Given the description of an element on the screen output the (x, y) to click on. 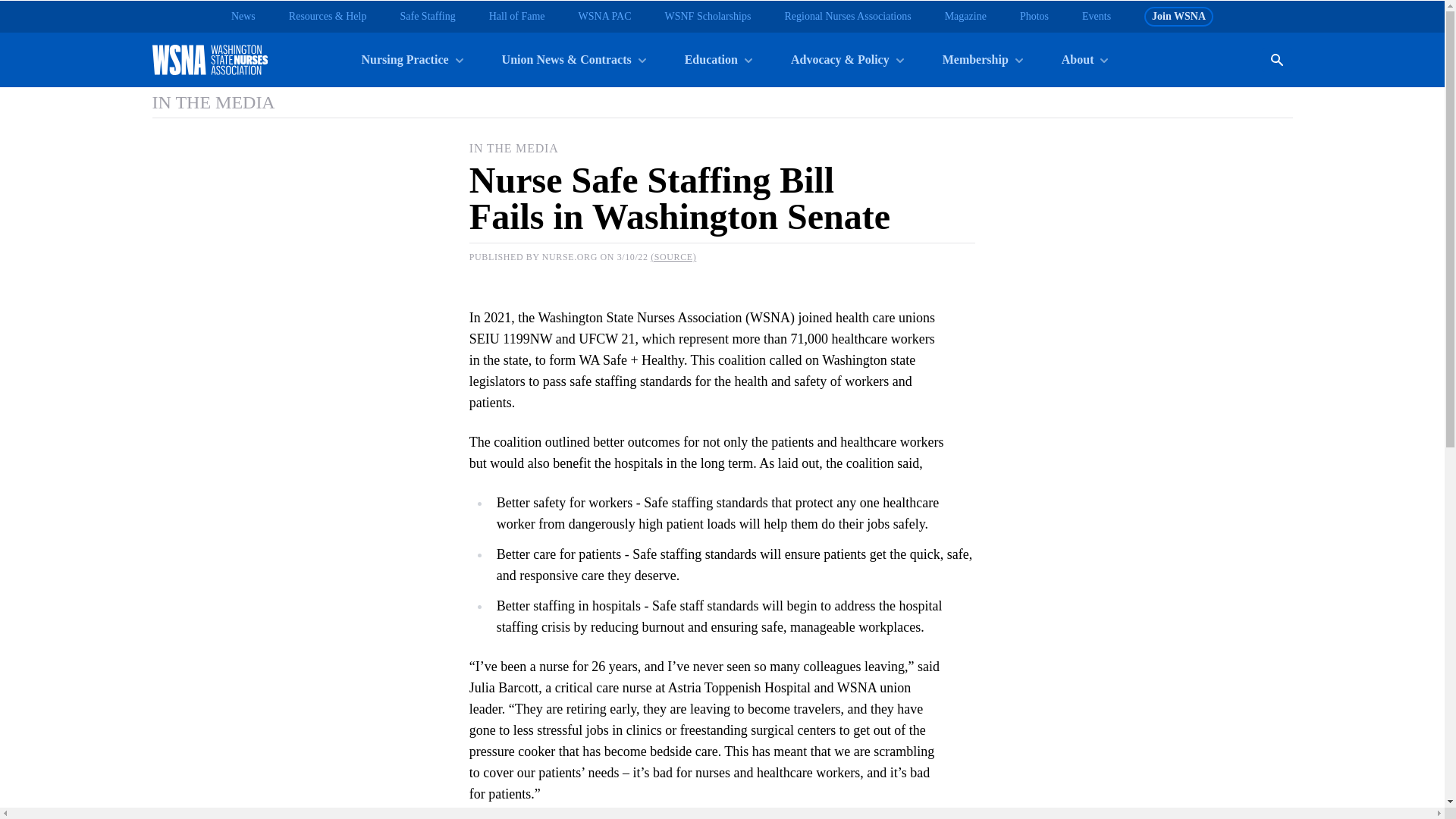
Join WSNA (1178, 16)
Safe Staffing (426, 16)
Photos (1034, 16)
Magazine (965, 16)
WSNF Scholarships (707, 16)
Hall of Fame (516, 16)
Regional Nurses Associations (847, 16)
Nursing Practice (410, 59)
News (243, 16)
Events (1095, 16)
WSNA PAC (604, 16)
Education (717, 59)
